Given the description of an element on the screen output the (x, y) to click on. 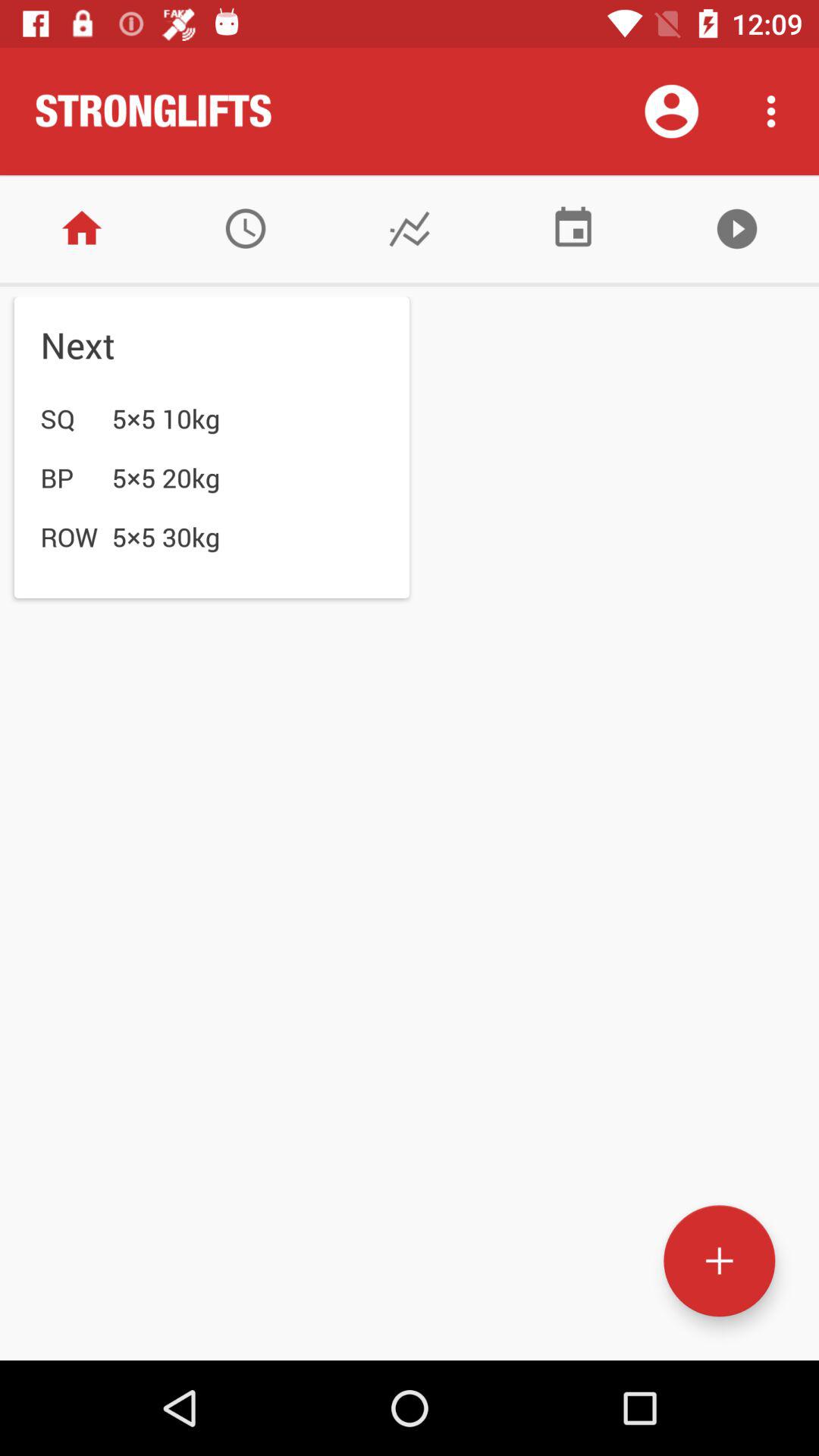
go to home (81, 228)
